Given the description of an element on the screen output the (x, y) to click on. 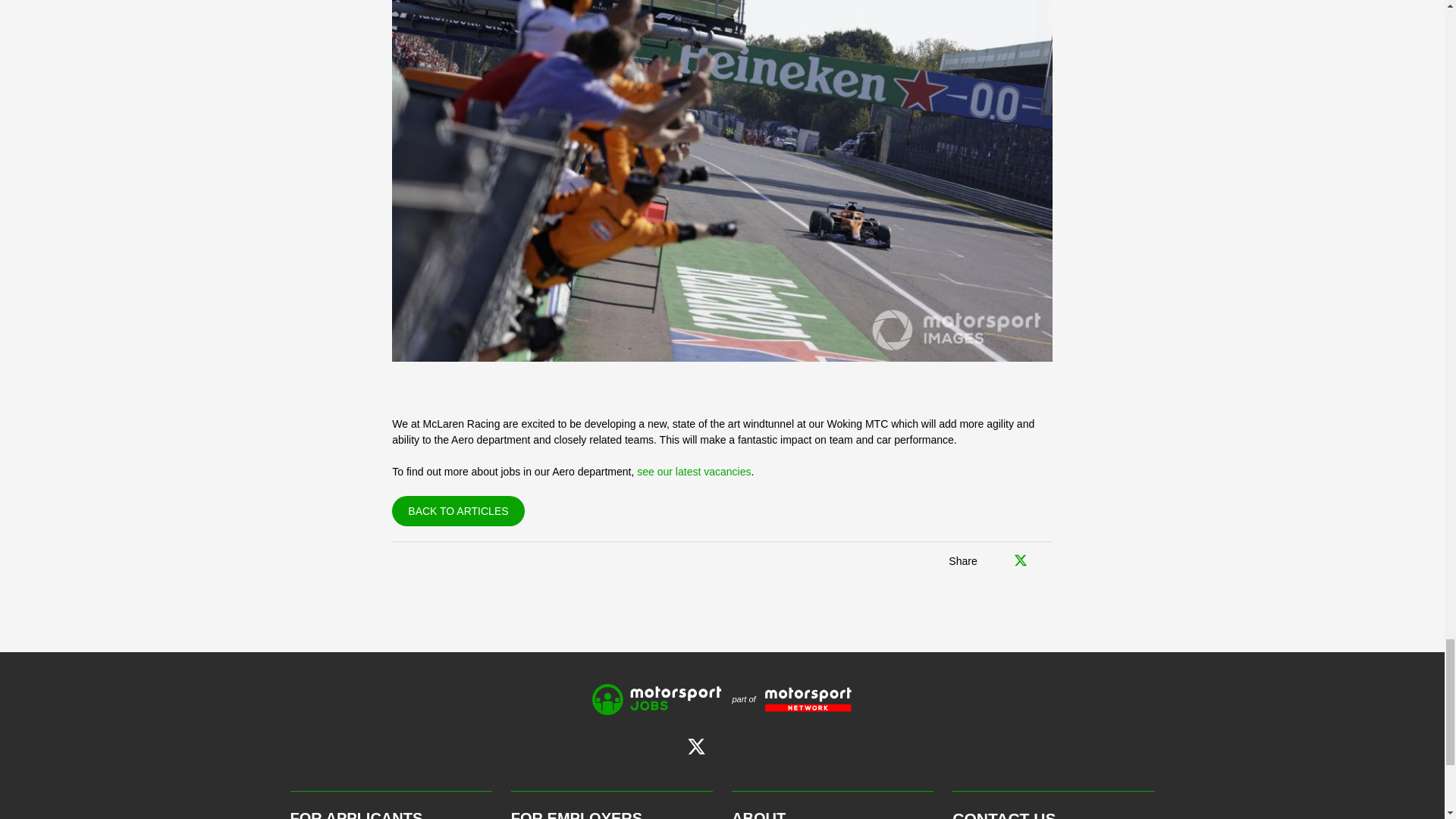
BACK TO ARTICLES (457, 511)
part of (785, 699)
Motorsportjobs.com (656, 698)
see our latest vacancies (694, 471)
